Given the description of an element on the screen output the (x, y) to click on. 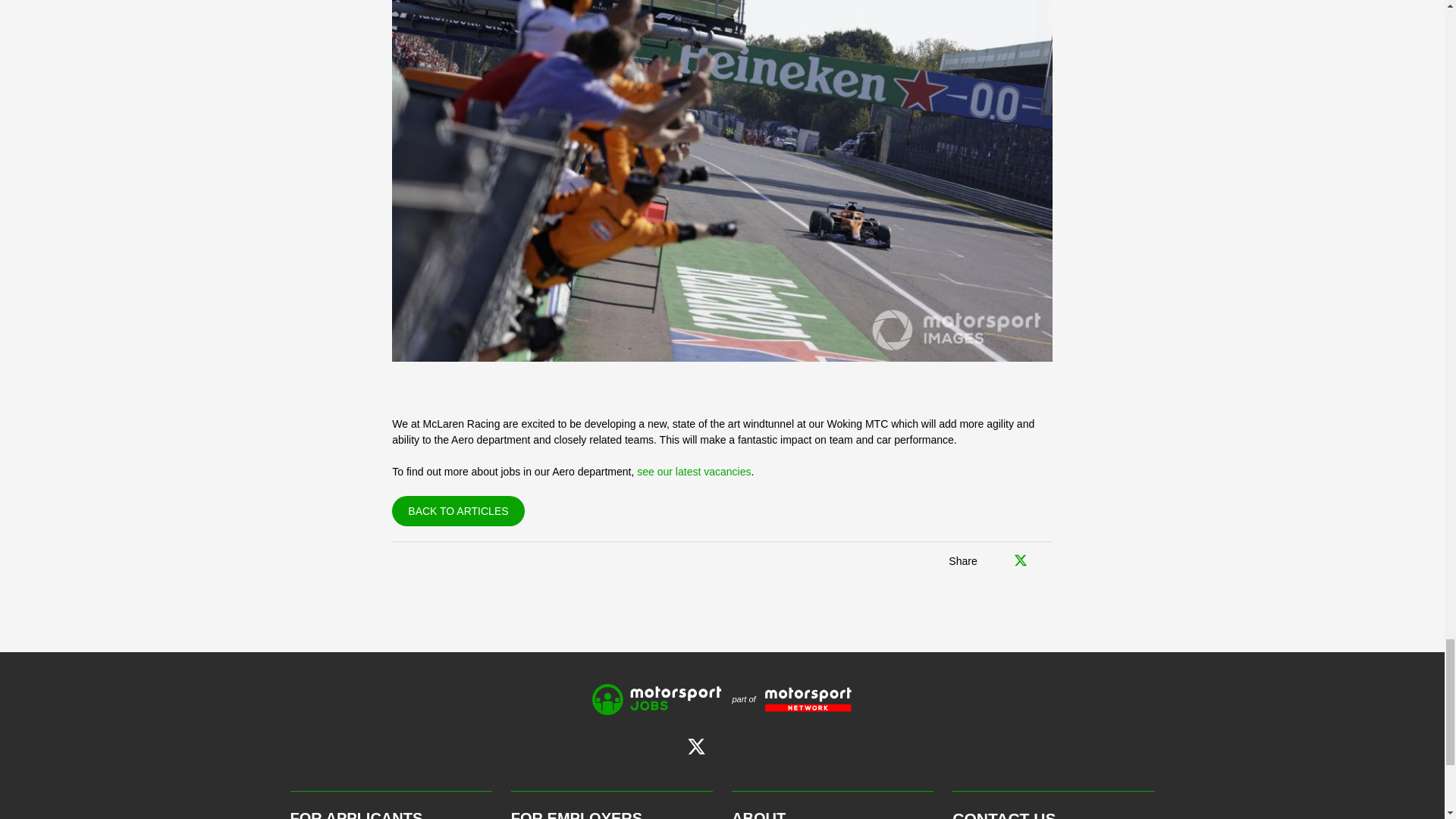
BACK TO ARTICLES (457, 511)
part of (785, 699)
Motorsportjobs.com (656, 698)
see our latest vacancies (694, 471)
